Given the description of an element on the screen output the (x, y) to click on. 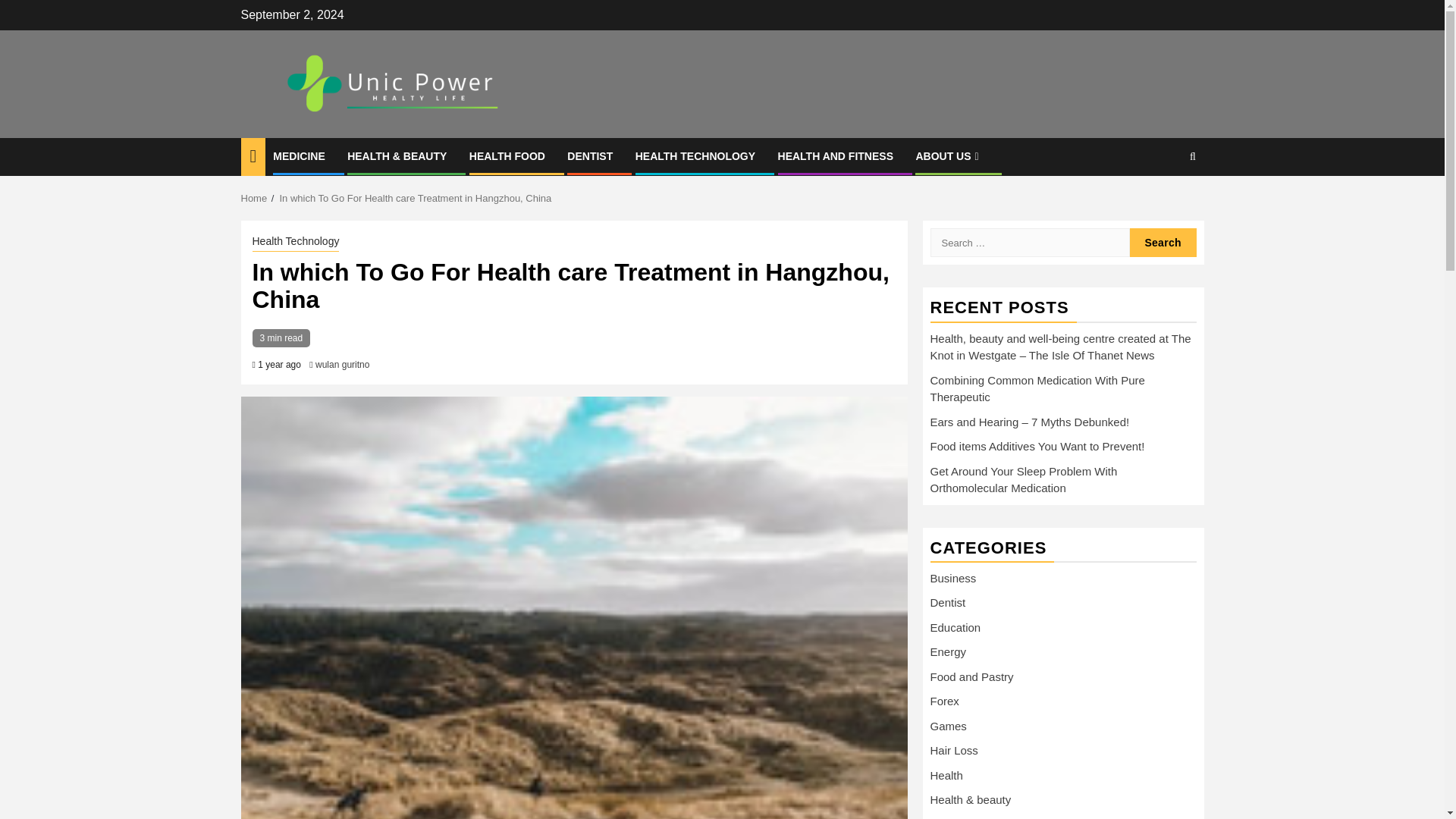
Home (254, 197)
Search (1163, 203)
Search (1162, 242)
HEALTH FOOD (506, 155)
HEALTH AND FITNESS (835, 155)
MEDICINE (298, 155)
DENTIST (589, 155)
wulan guritno (342, 364)
HEALTH TECHNOLOGY (694, 155)
